Given the description of an element on the screen output the (x, y) to click on. 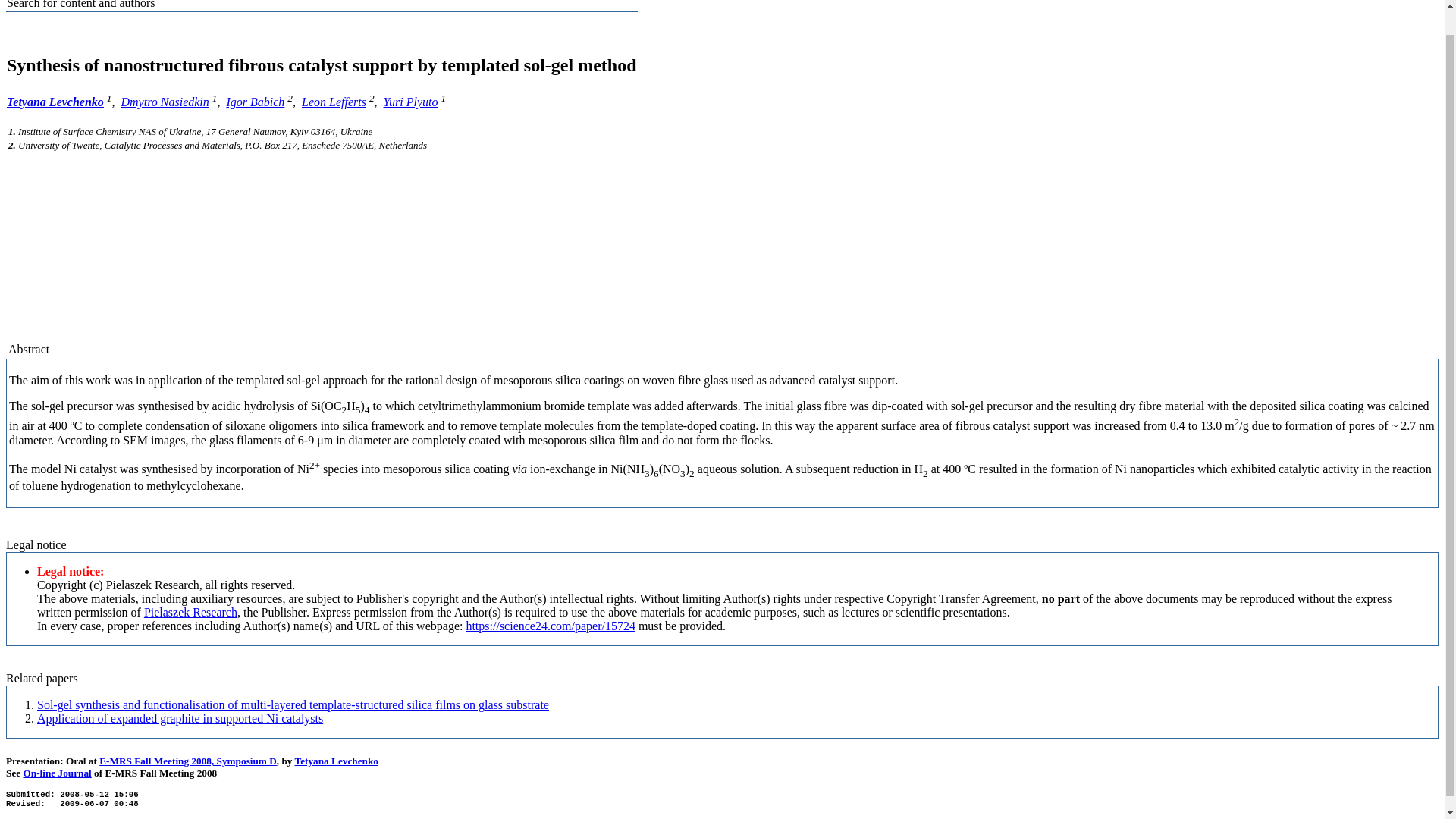
Igor Babich (254, 101)
Pielaszek Research (190, 612)
Nasiedkin, 2008-05-12 (180, 717)
Tetyana Levchenko (55, 101)
Leon Lefferts (333, 101)
Yuri Plyuto (411, 101)
On-line Journal (56, 772)
copyright (166, 584)
Application of expanded graphite in supported Ni catalysts (180, 717)
Advertisement (721, 261)
Dmytro Nasiedkin (164, 101)
Levchenko, 2008-05-30 (292, 704)
Tetyana Levchenko (336, 760)
E-MRS Fall Meeting 2008, Symposium D (187, 760)
